Given the description of an element on the screen output the (x, y) to click on. 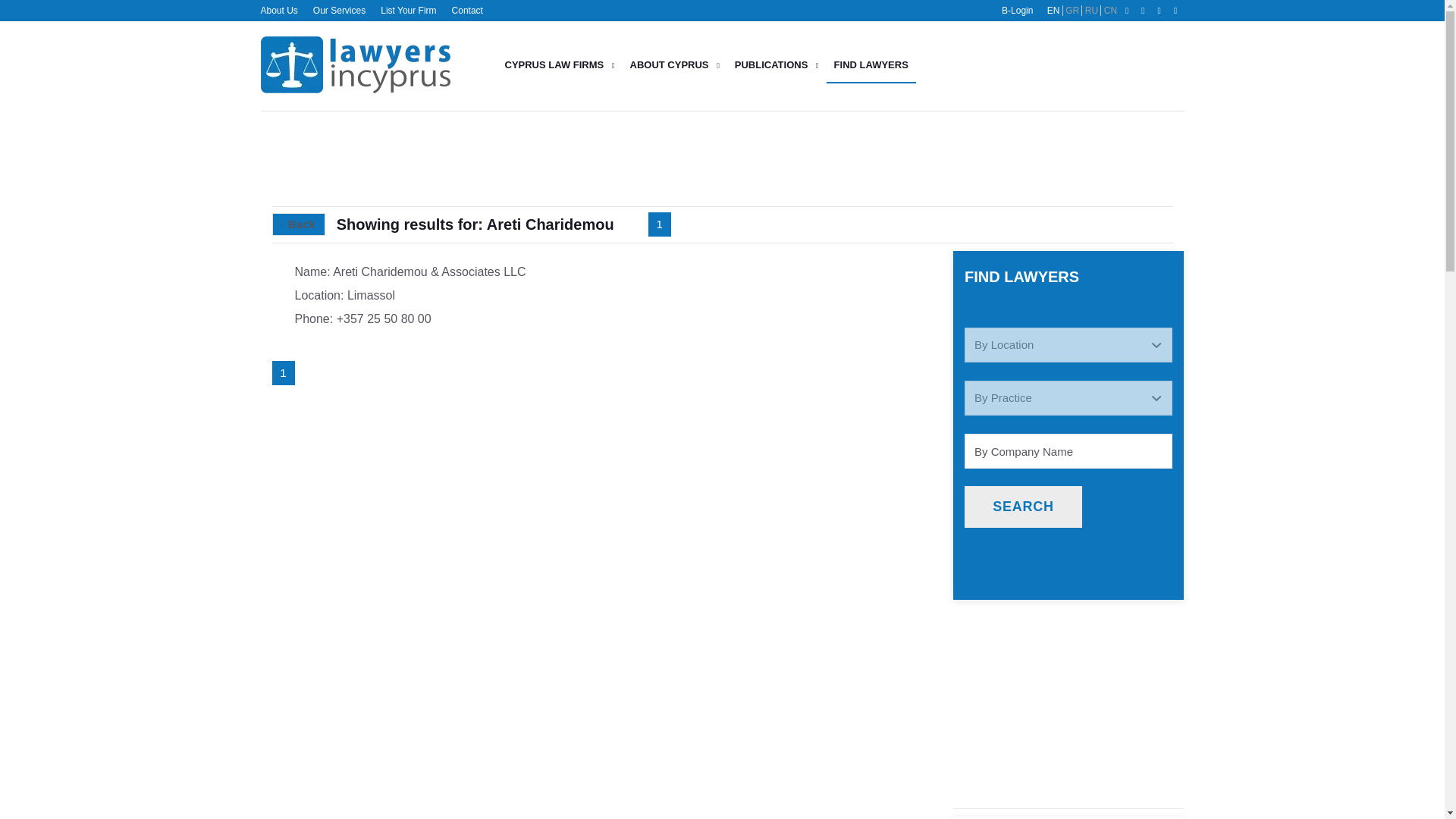
3rd party ad content (603, 158)
3rd party ad content (1072, 158)
3rd party ad content (1068, 735)
3rd party ad content (1068, 648)
3rd party ad content (1072, 65)
